Given the description of an element on the screen output the (x, y) to click on. 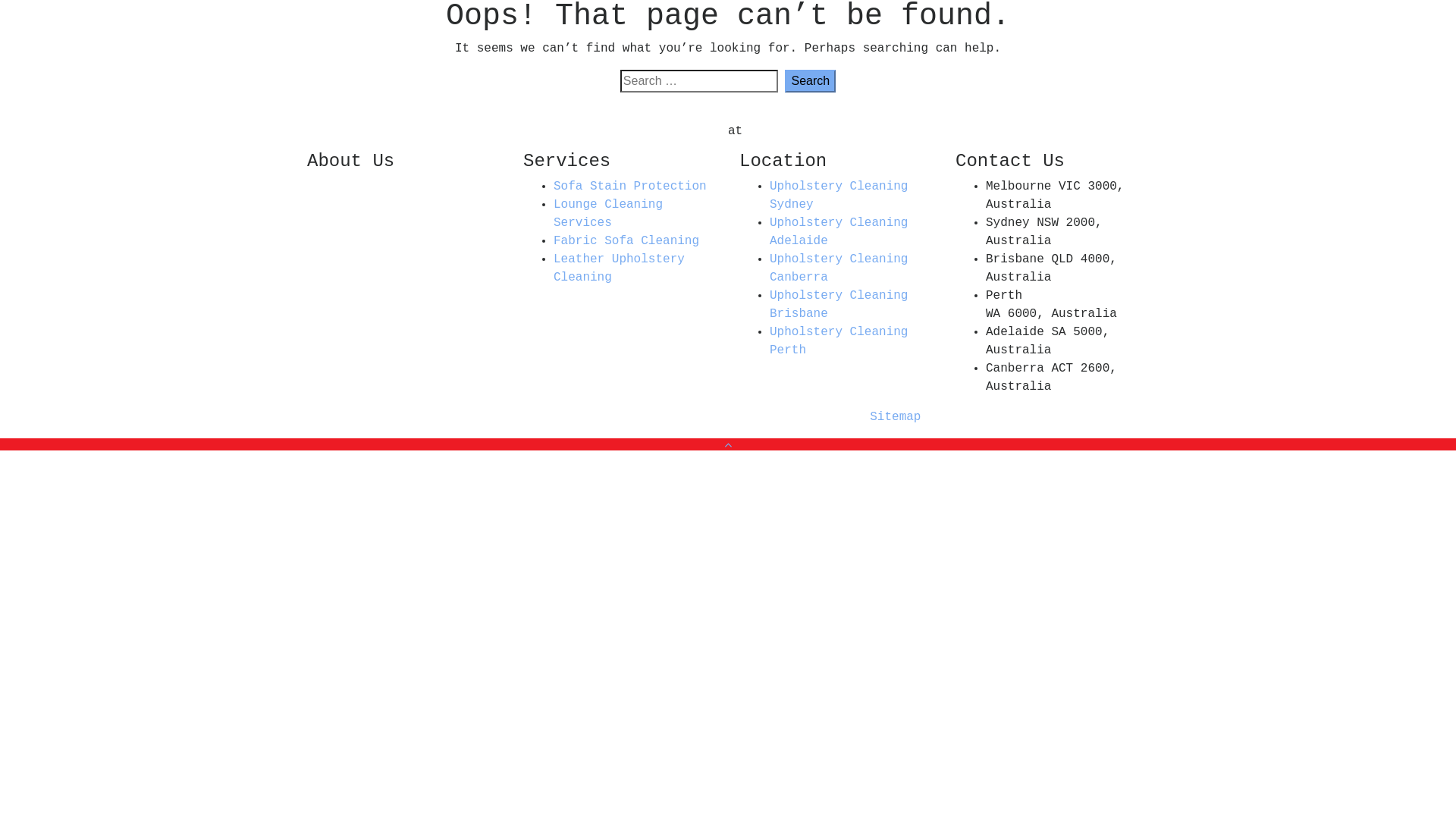
Upholstery Cleaning Brisbane Element type: text (838, 304)
Upholstery Cleaning Canberra Element type: text (838, 268)
Leather Upholstery Cleaning Element type: text (618, 268)
Upholstery Cleaning Perth Element type: text (838, 341)
Sitemap Element type: text (894, 416)
Fabric Sofa Cleaning Element type: text (626, 240)
Lounge Cleaning Services Element type: text (607, 213)
Upholstery Cleaning Sydney Element type: text (838, 195)
Search Element type: text (809, 80)
Sofa Stain Protection Element type: text (629, 186)
Upholstery Cleaning Adelaide Element type: text (838, 231)
